Given the description of an element on the screen output the (x, y) to click on. 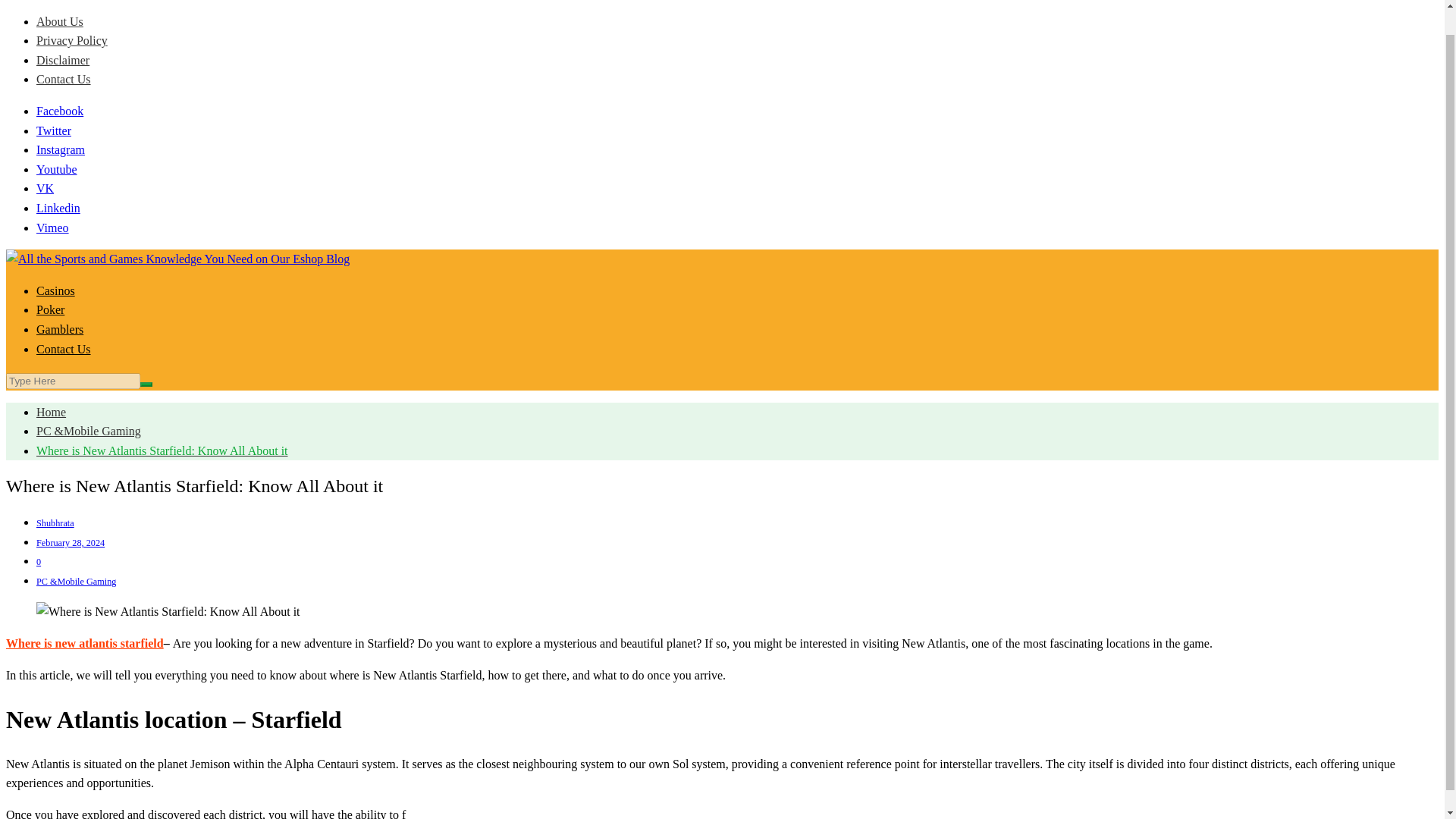
Home (50, 411)
Contact Us (63, 78)
About Us (59, 21)
0 (38, 561)
Facebook (59, 110)
Disclaimer (62, 60)
Casinos (55, 290)
Where is new atlantis starfield (84, 643)
VK (44, 187)
Vimeo (52, 227)
Contact Us (63, 349)
Youtube (56, 169)
Privacy Policy (71, 40)
Linkedin (58, 207)
Instagram (60, 149)
